Given the description of an element on the screen output the (x, y) to click on. 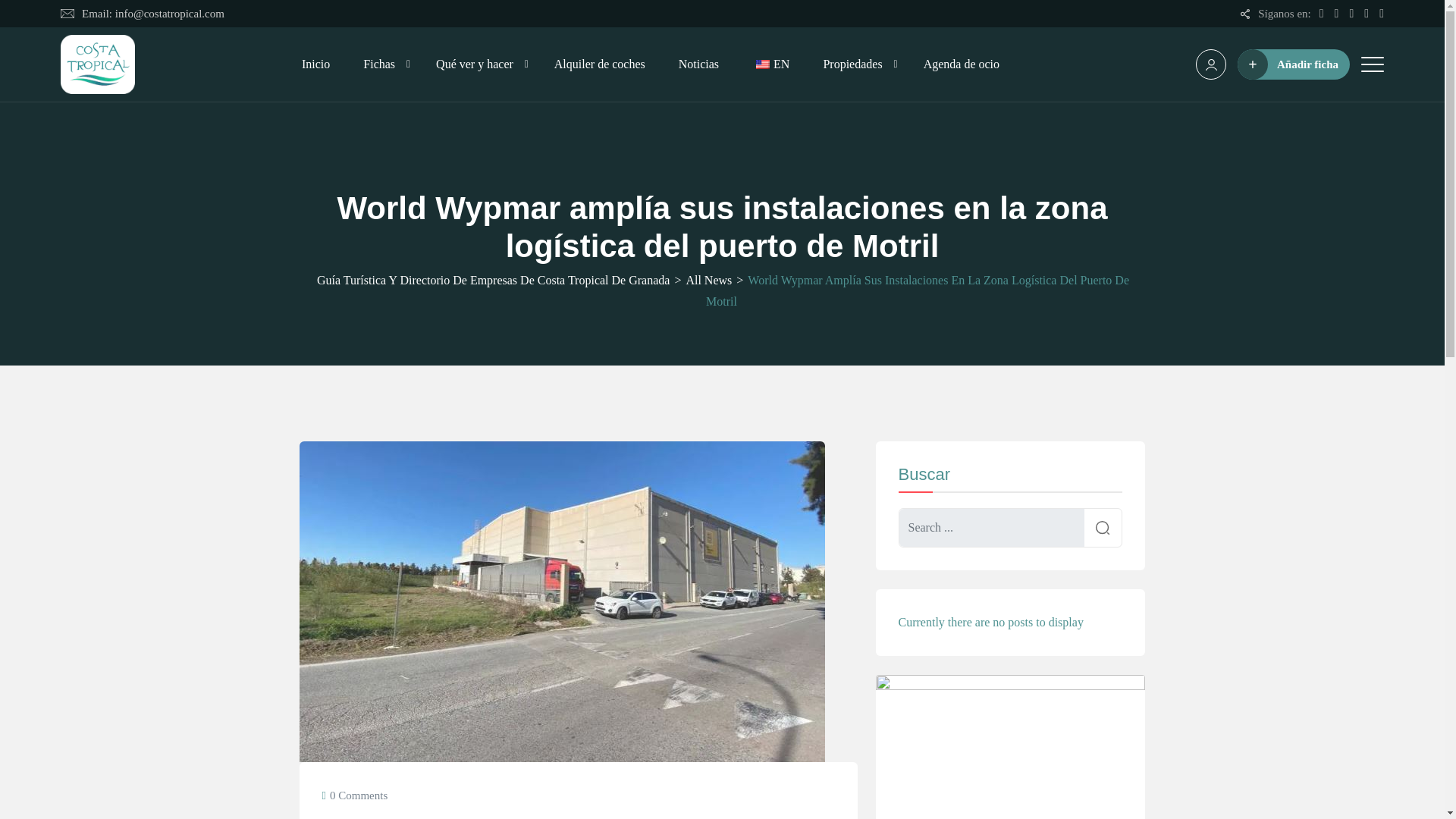
Logo Costa Tropical (98, 64)
Ir a All News. (708, 280)
English (762, 63)
